Given the description of an element on the screen output the (x, y) to click on. 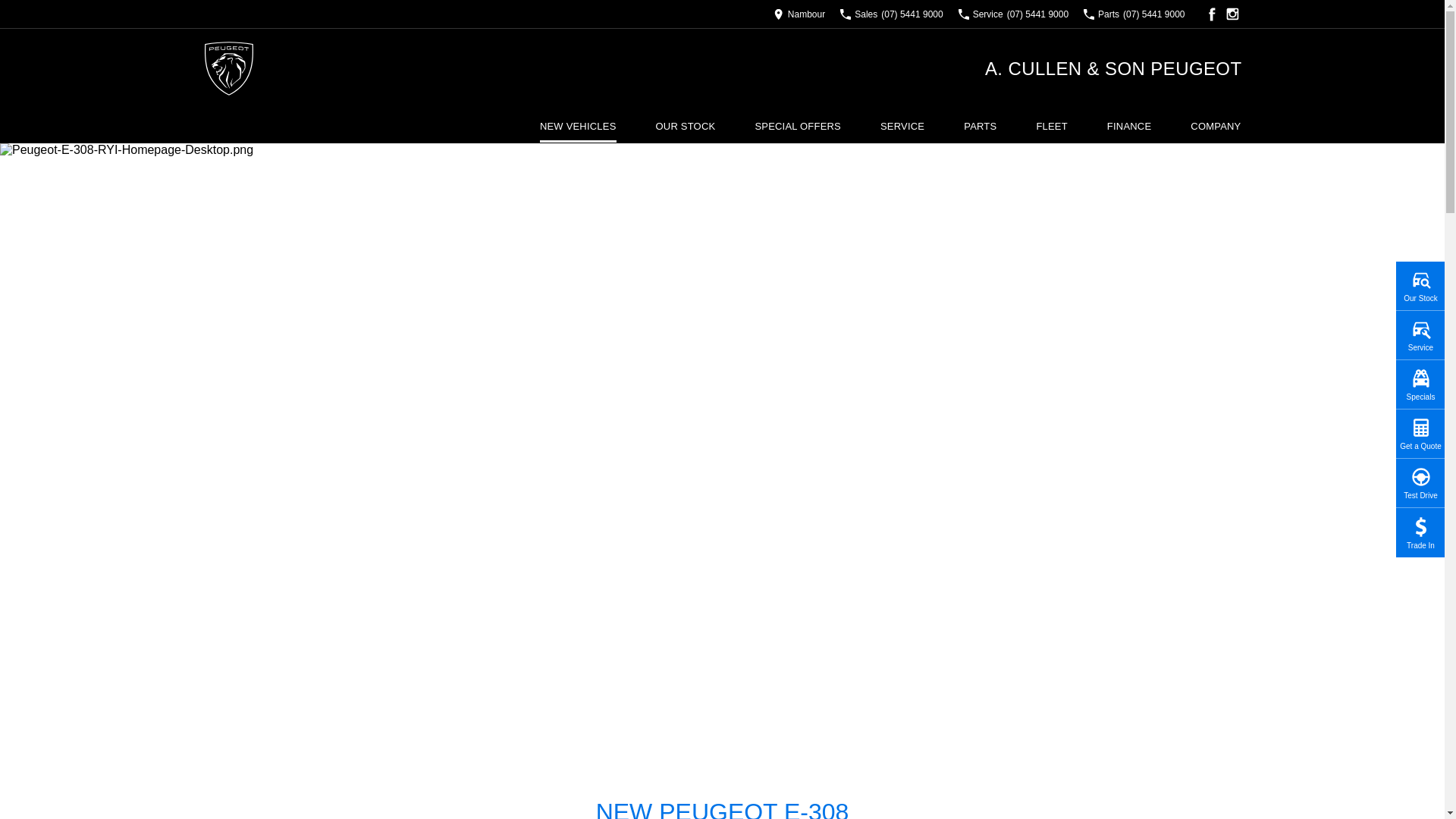
Nambour (799, 13)
SPECIAL OFFERS (797, 125)
NEW VEHICLES (577, 125)
OUR STOCK (685, 125)
